Given the description of an element on the screen output the (x, y) to click on. 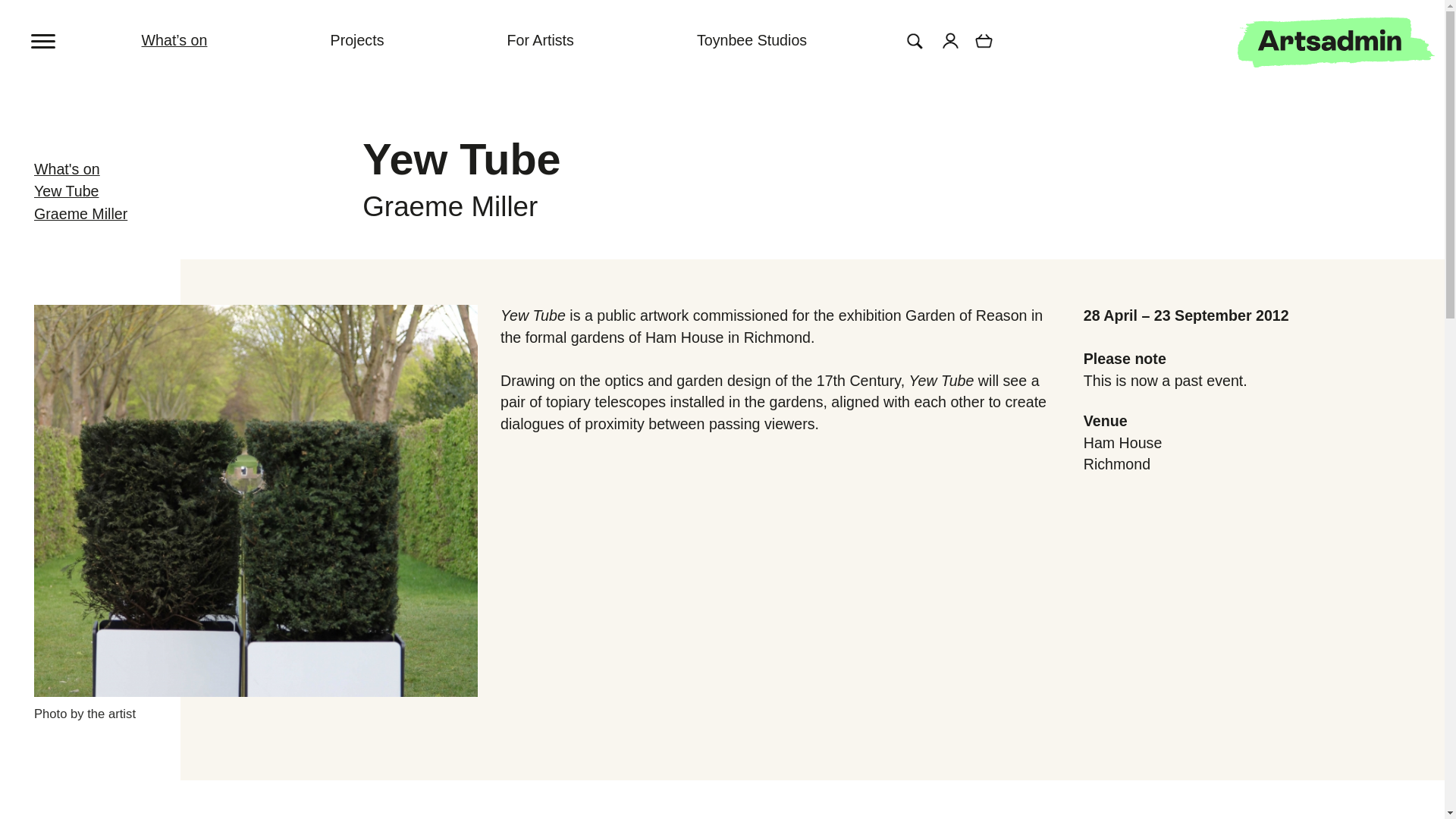
Toggle menu (61, 30)
Toggle menu (44, 39)
